Given the description of an element on the screen output the (x, y) to click on. 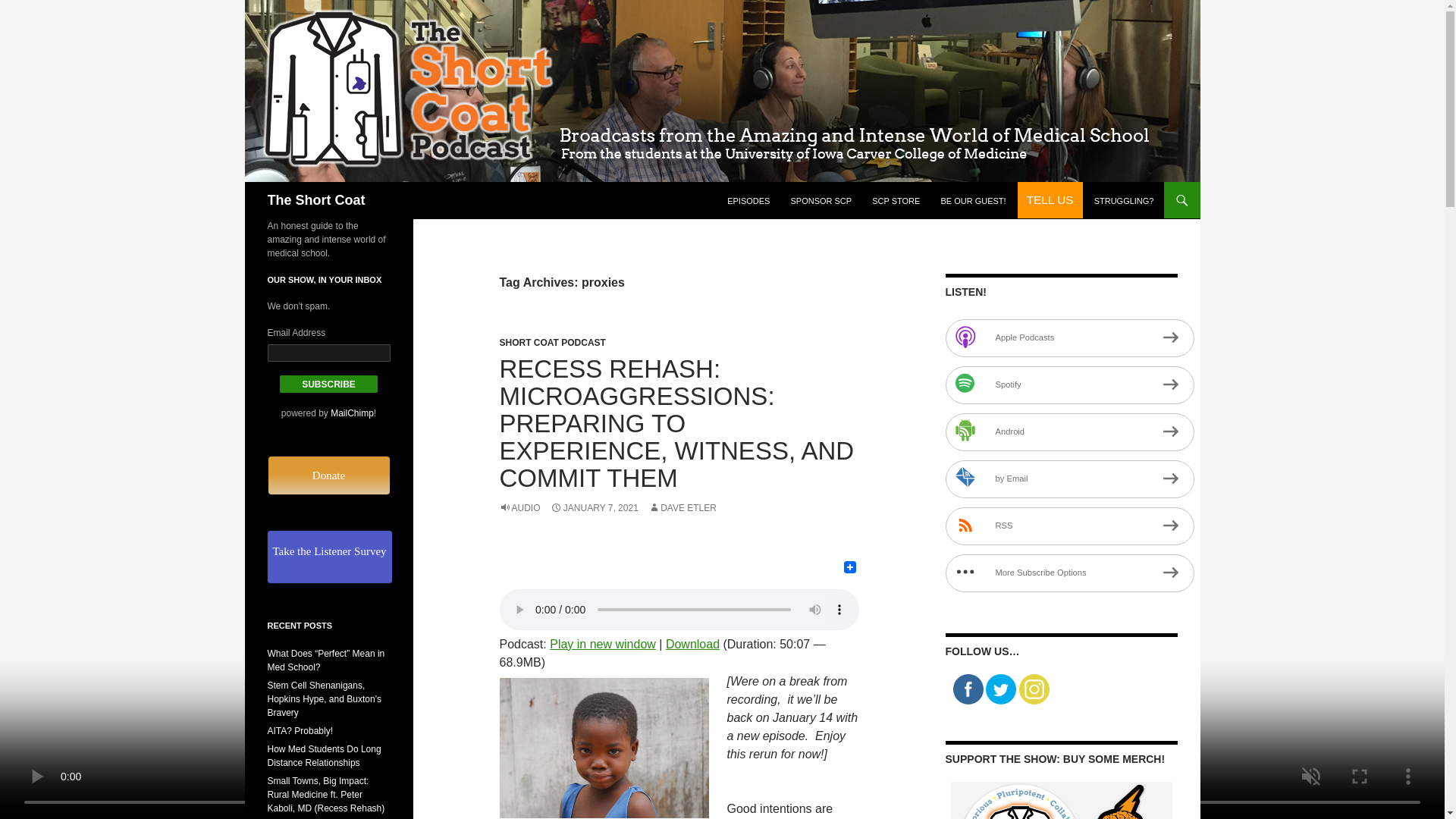
DAVE ETLER (681, 507)
JANUARY 7, 2021 (594, 507)
Download (692, 644)
calltoaction (1050, 199)
STRUGGLING? (1123, 200)
SCP STORE (895, 200)
EPISODES (747, 200)
Annoyed by F H Mira (603, 748)
Subscribe (328, 384)
Play in new window (603, 644)
Play in new window (603, 644)
SPONSOR SCP (820, 200)
TELL US (1050, 199)
